Given the description of an element on the screen output the (x, y) to click on. 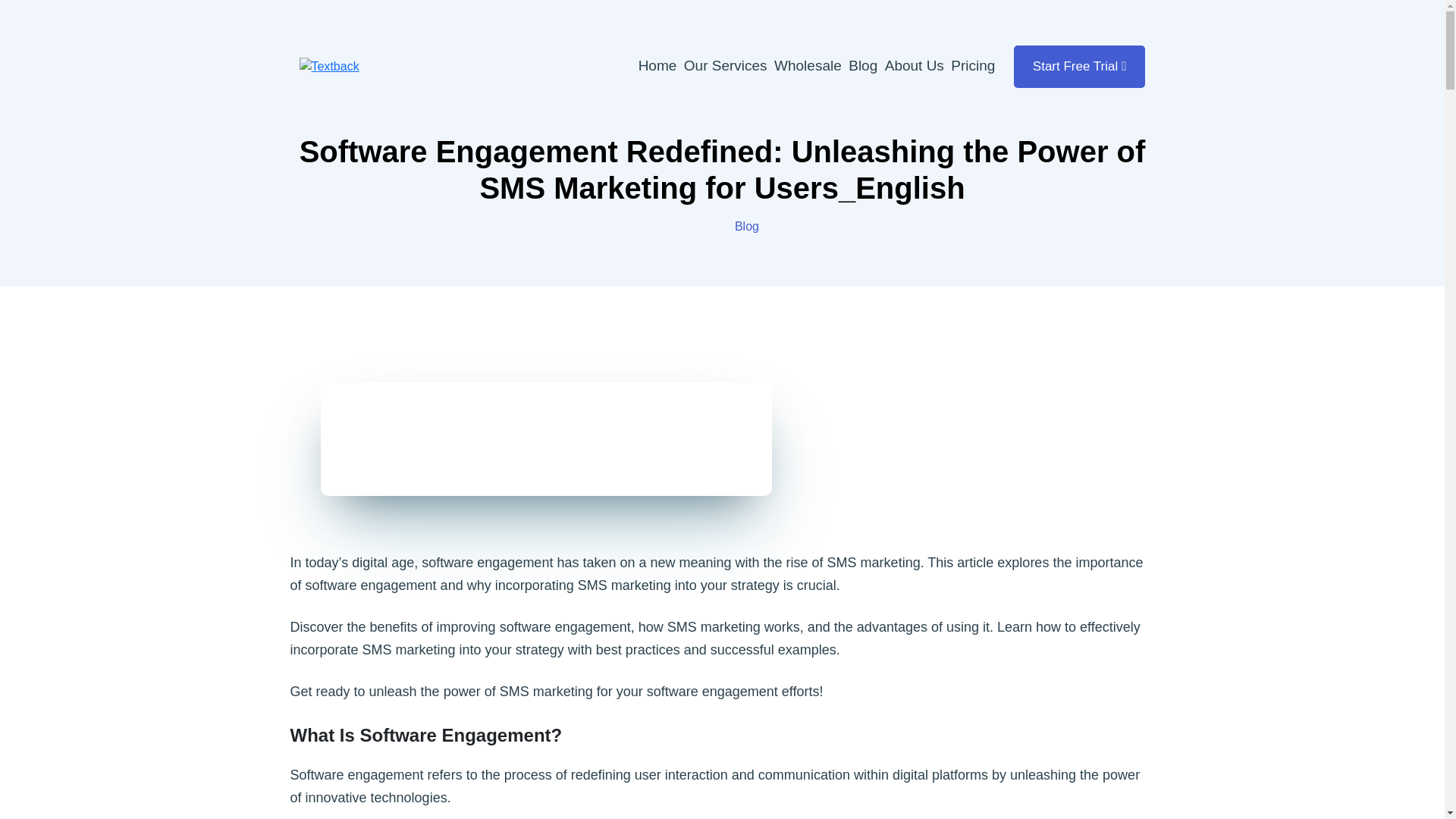
Blog (862, 65)
Start Free Trial (1079, 66)
Our Services (725, 65)
Home (658, 65)
About Us (914, 65)
Wholesale (807, 65)
Pricing (972, 65)
Blog (746, 226)
